Given the description of an element on the screen output the (x, y) to click on. 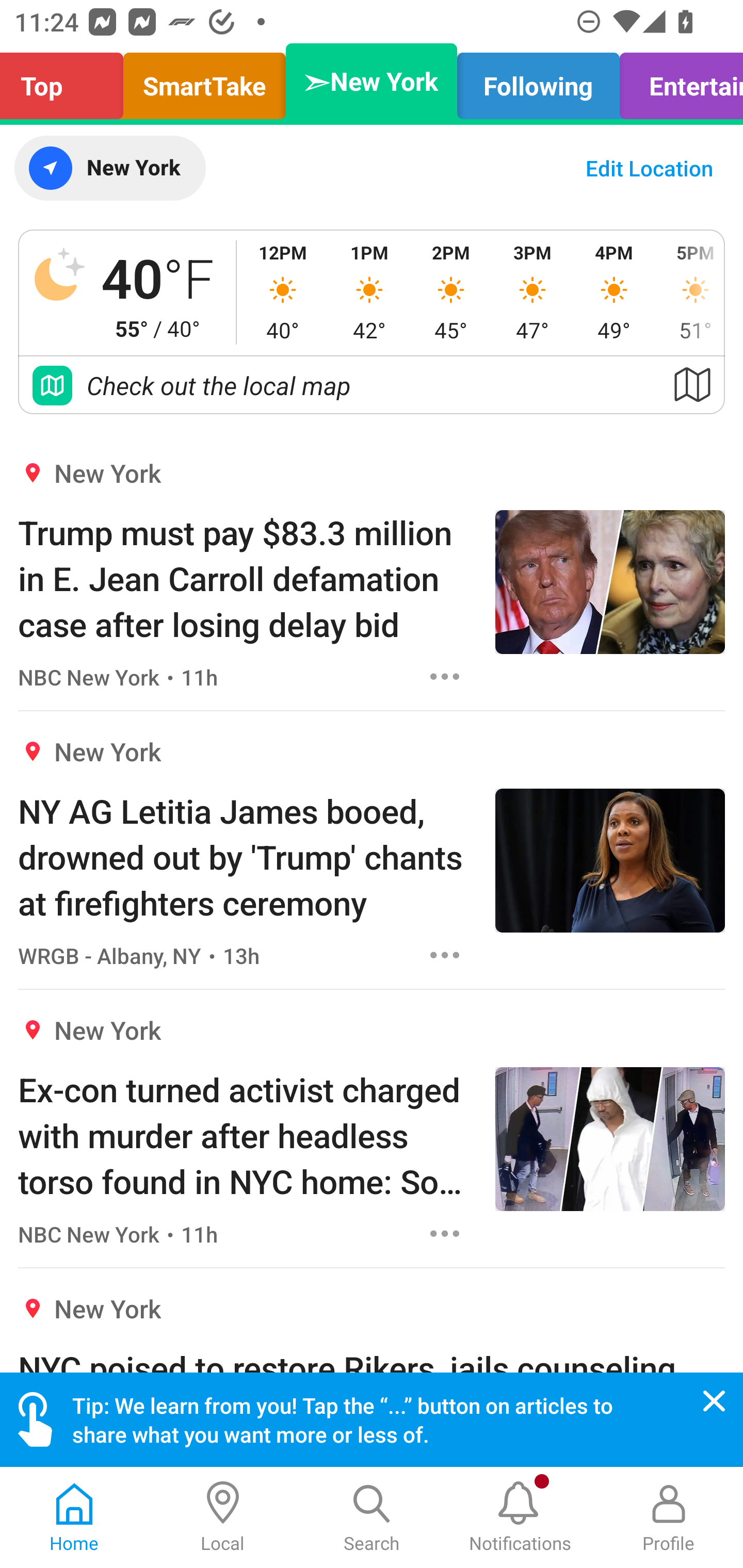
Top (67, 81)
SmartTake (204, 81)
➣New York (371, 81)
Following (538, 81)
New York (109, 168)
Edit Location (648, 168)
12PM 40° (282, 291)
1PM 42° (369, 291)
2PM 45° (450, 291)
3PM 47° (532, 291)
4PM 49° (613, 291)
5PM 51° (689, 291)
Check out the local map (371, 384)
Options (444, 676)
Options (444, 954)
Options (444, 1233)
Close (714, 1401)
Local (222, 1517)
Search (371, 1517)
Notifications, New notification Notifications (519, 1517)
Profile (668, 1517)
